Given the description of an element on the screen output the (x, y) to click on. 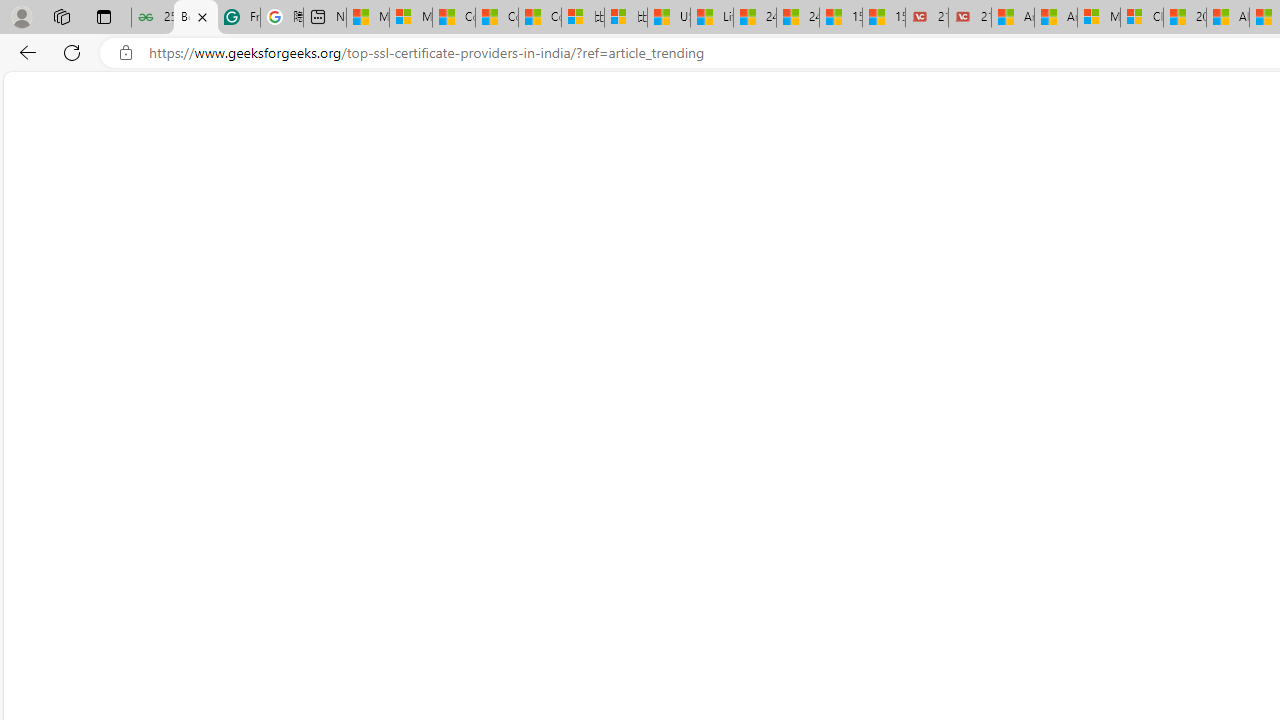
AutomationID: gradient3 (274, 561)
AutomationID: cbb (712, 449)
AutomationID: vapourBg (567, 565)
AutomationID: gradient4 (275, 561)
ChatGPT Tutorial (1042, 142)
ChatGPT Blogs (662, 142)
Lifestyle - MSN (712, 17)
20 Ways to Boost Your Protein Intake at Every Meal (1184, 17)
AutomationID: bg2 (274, 561)
25 Basic Linux Commands For Beginners - GeeksforGeeks (152, 17)
